Given the description of an element on the screen output the (x, y) to click on. 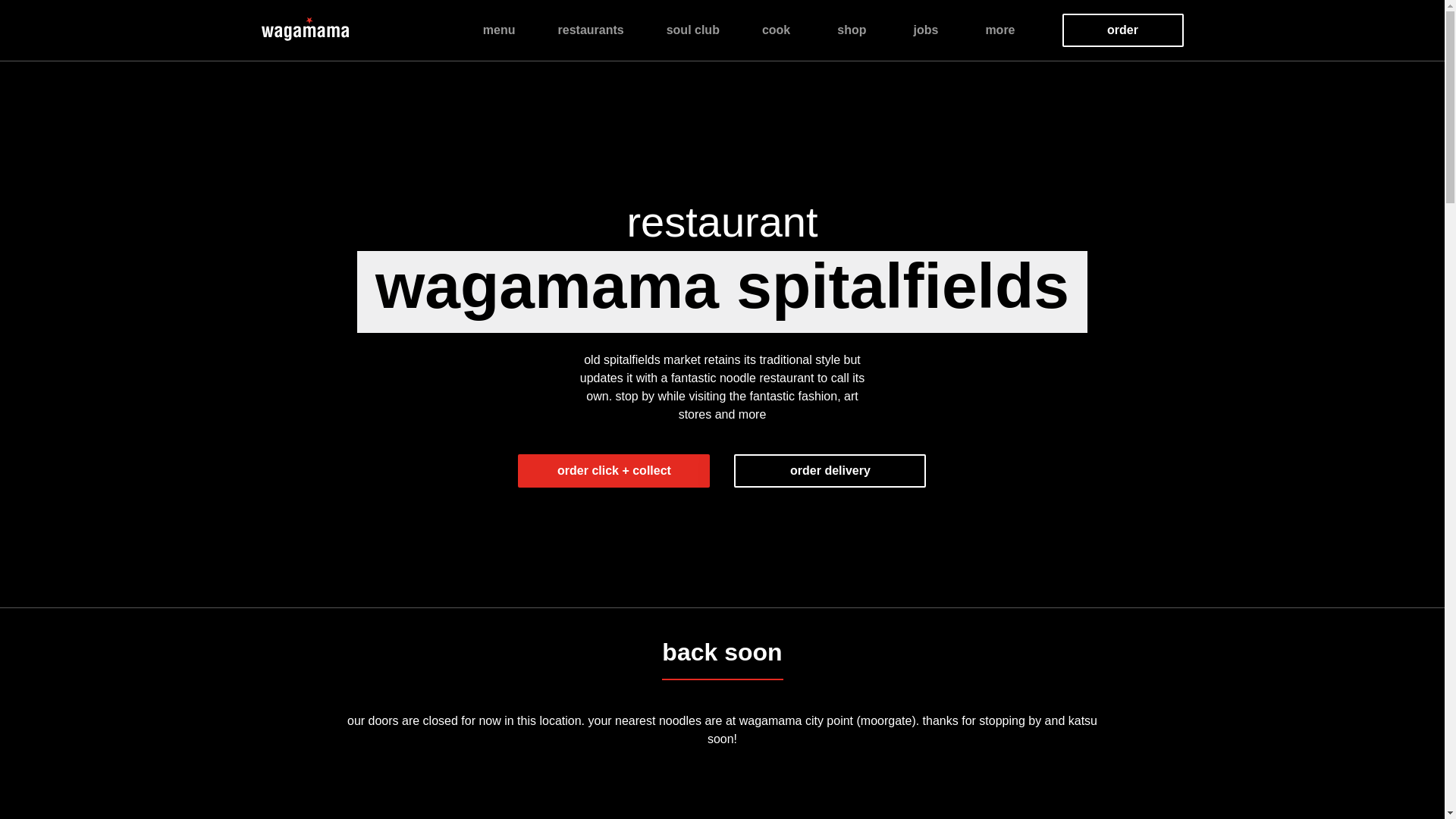
cook (775, 30)
restaurants (590, 30)
more (999, 30)
shop (851, 30)
soul club (692, 30)
jobs (924, 30)
order (1121, 29)
order delivery (829, 470)
menu (499, 30)
